Given the description of an element on the screen output the (x, y) to click on. 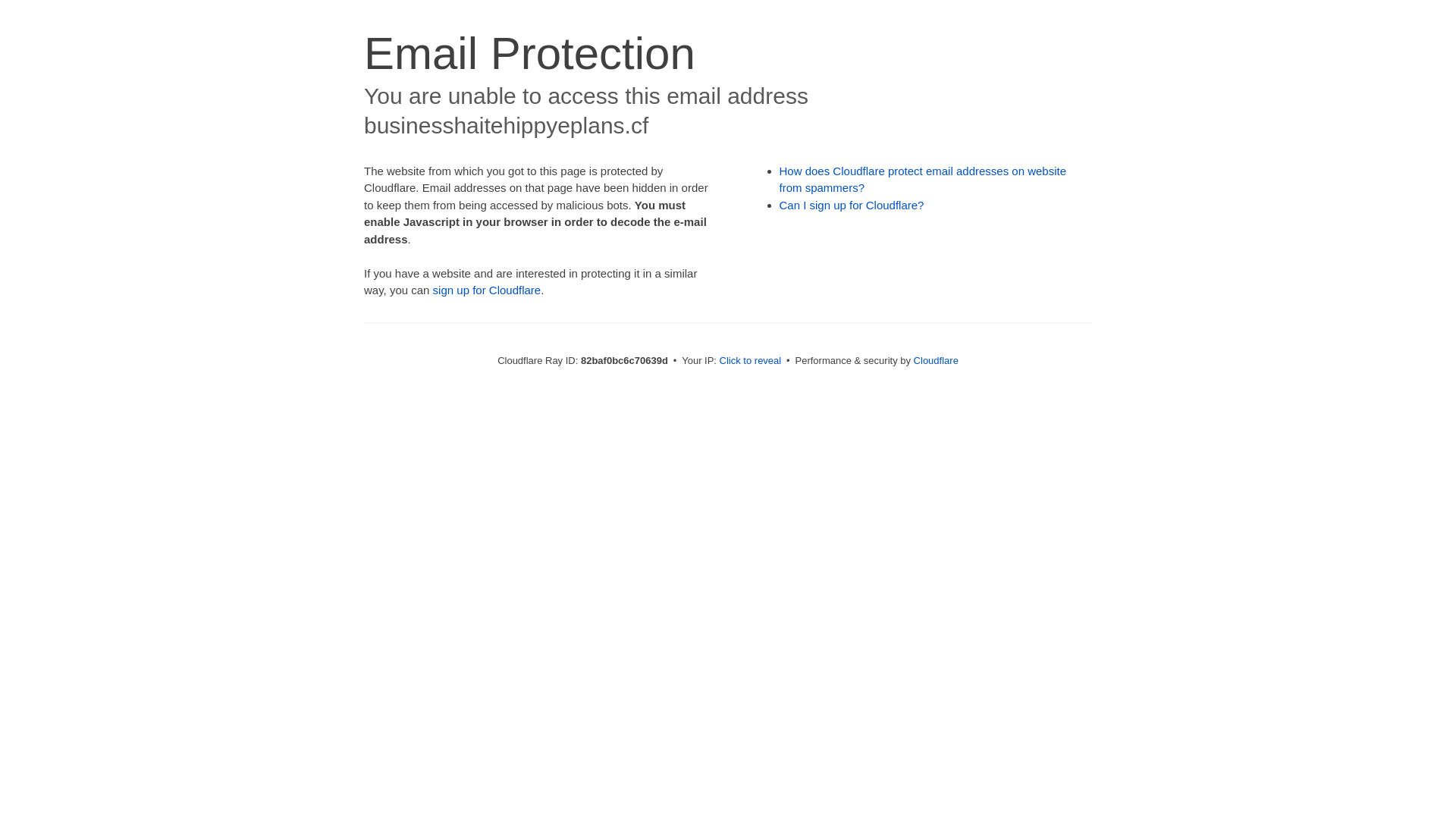
Click to reveal Element type: text (750, 360)
Cloudflare Element type: text (935, 360)
sign up for Cloudflare Element type: text (487, 289)
Can I sign up for Cloudflare? Element type: text (851, 204)
